Given the description of an element on the screen output the (x, y) to click on. 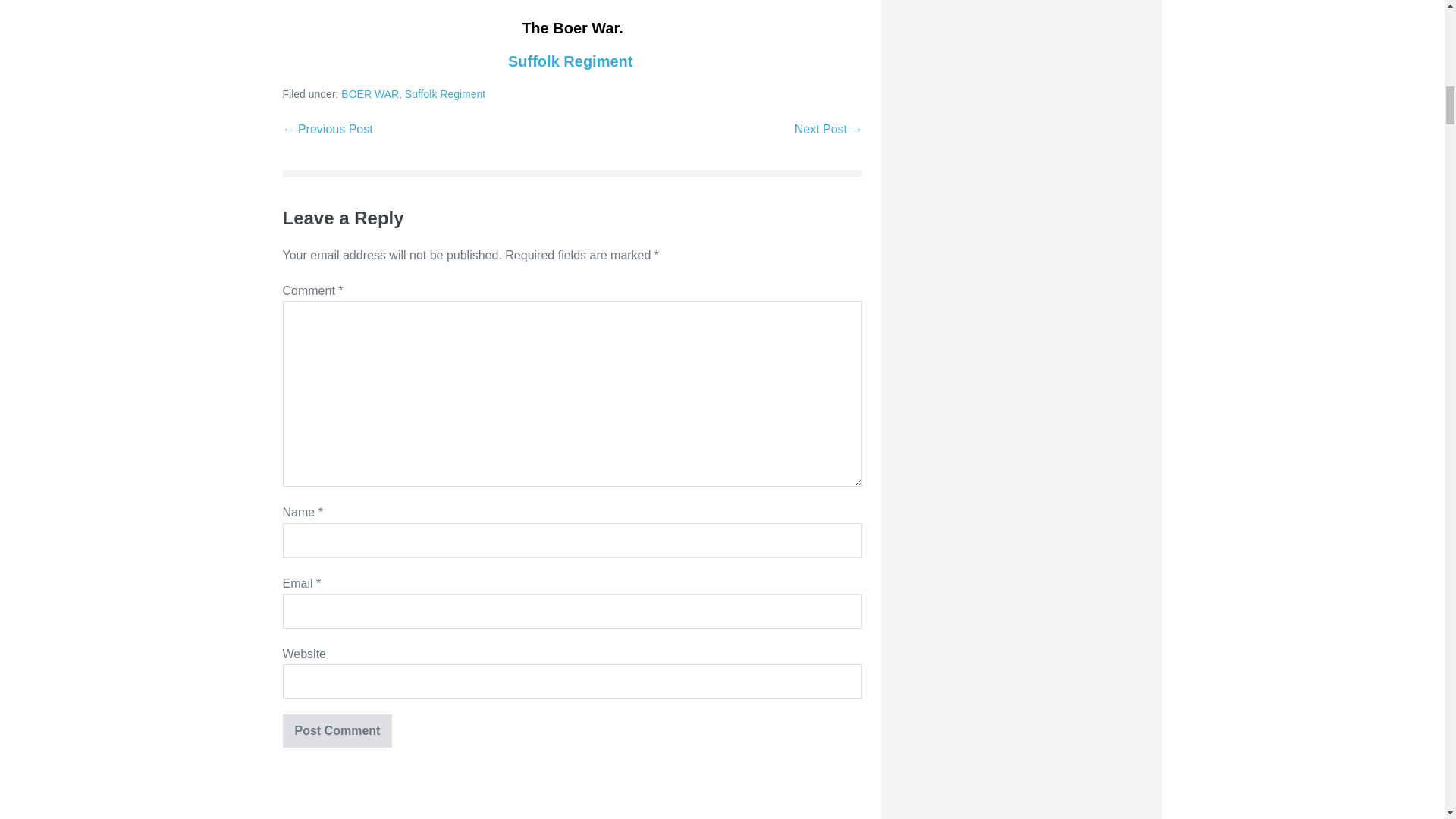
Post Comment (336, 730)
